Given the description of an element on the screen output the (x, y) to click on. 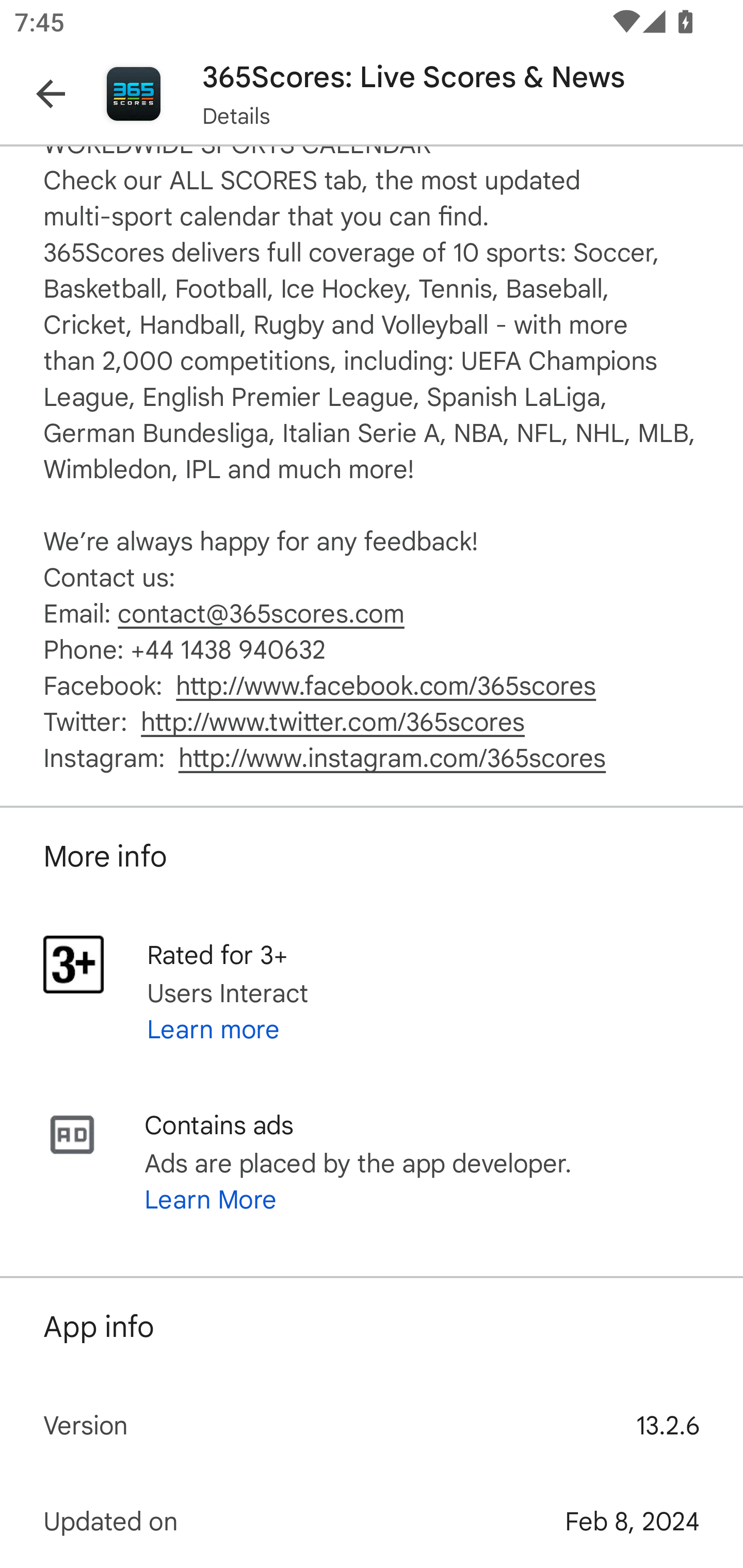
Navigate up (50, 93)
